Given the description of an element on the screen output the (x, y) to click on. 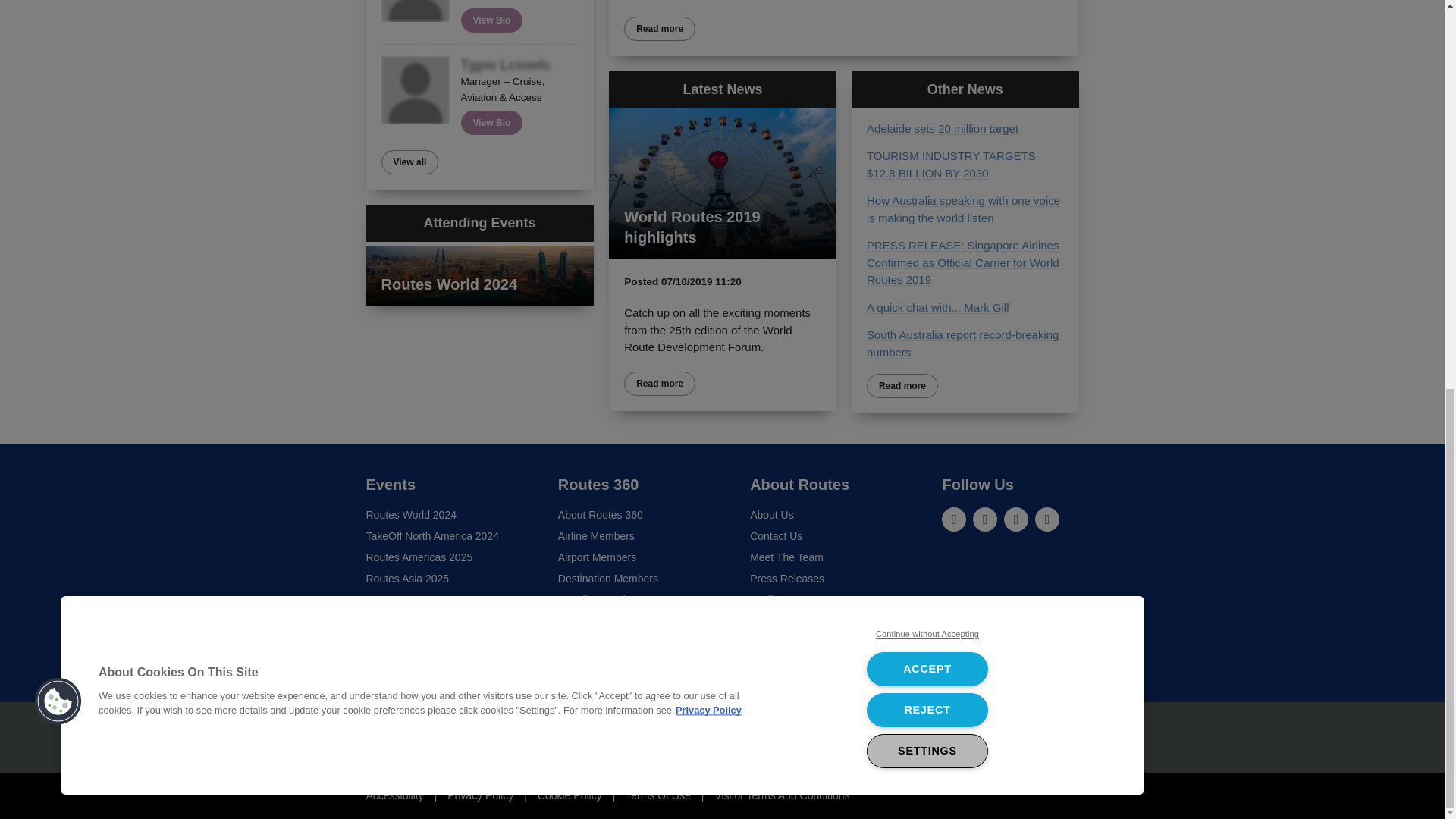
LinkedIn (954, 518)
YouTube (1047, 518)
Facebook (1015, 518)
